Given the description of an element on the screen output the (x, y) to click on. 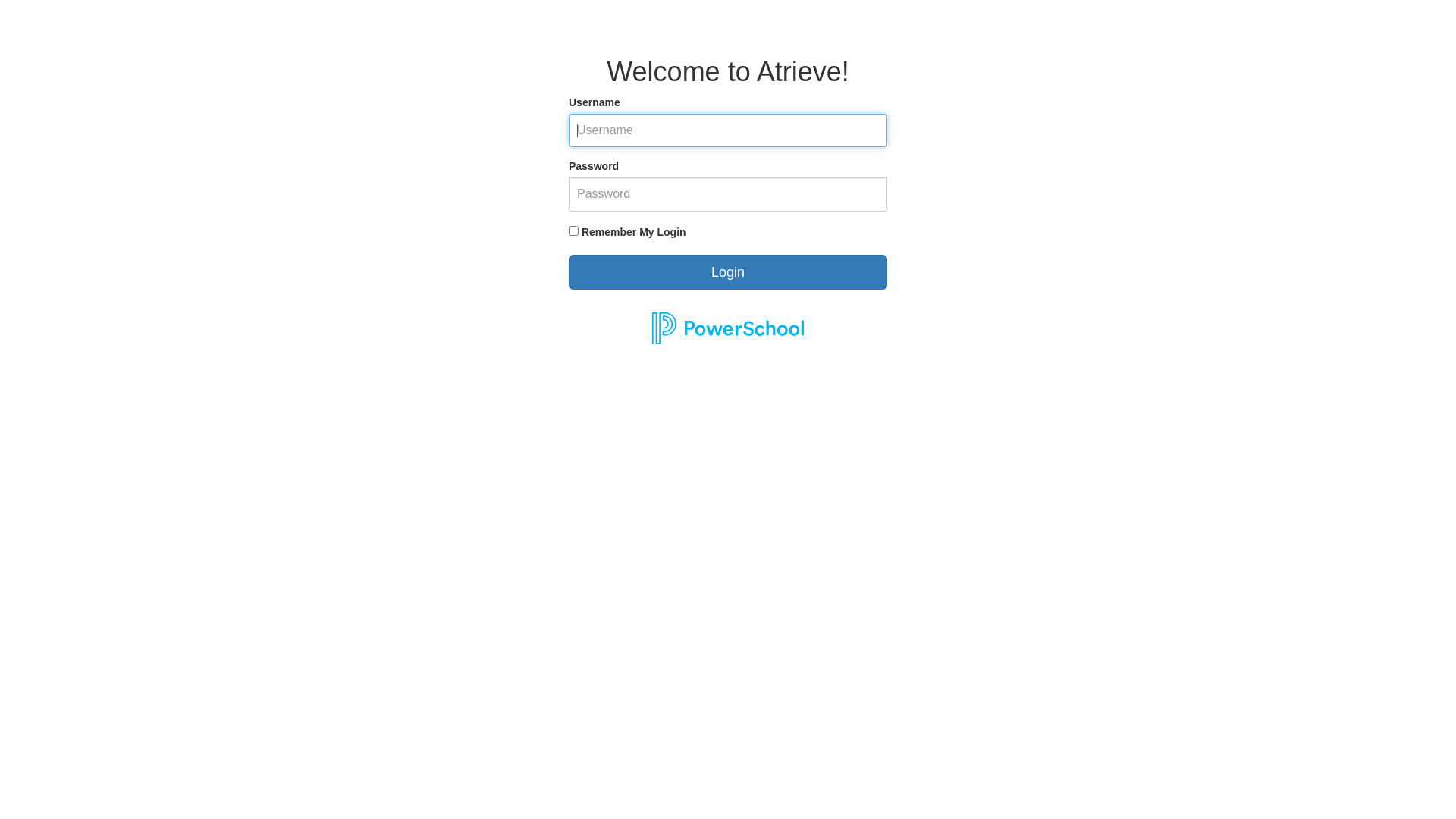
Login Element type: text (727, 271)
